Given the description of an element on the screen output the (x, y) to click on. 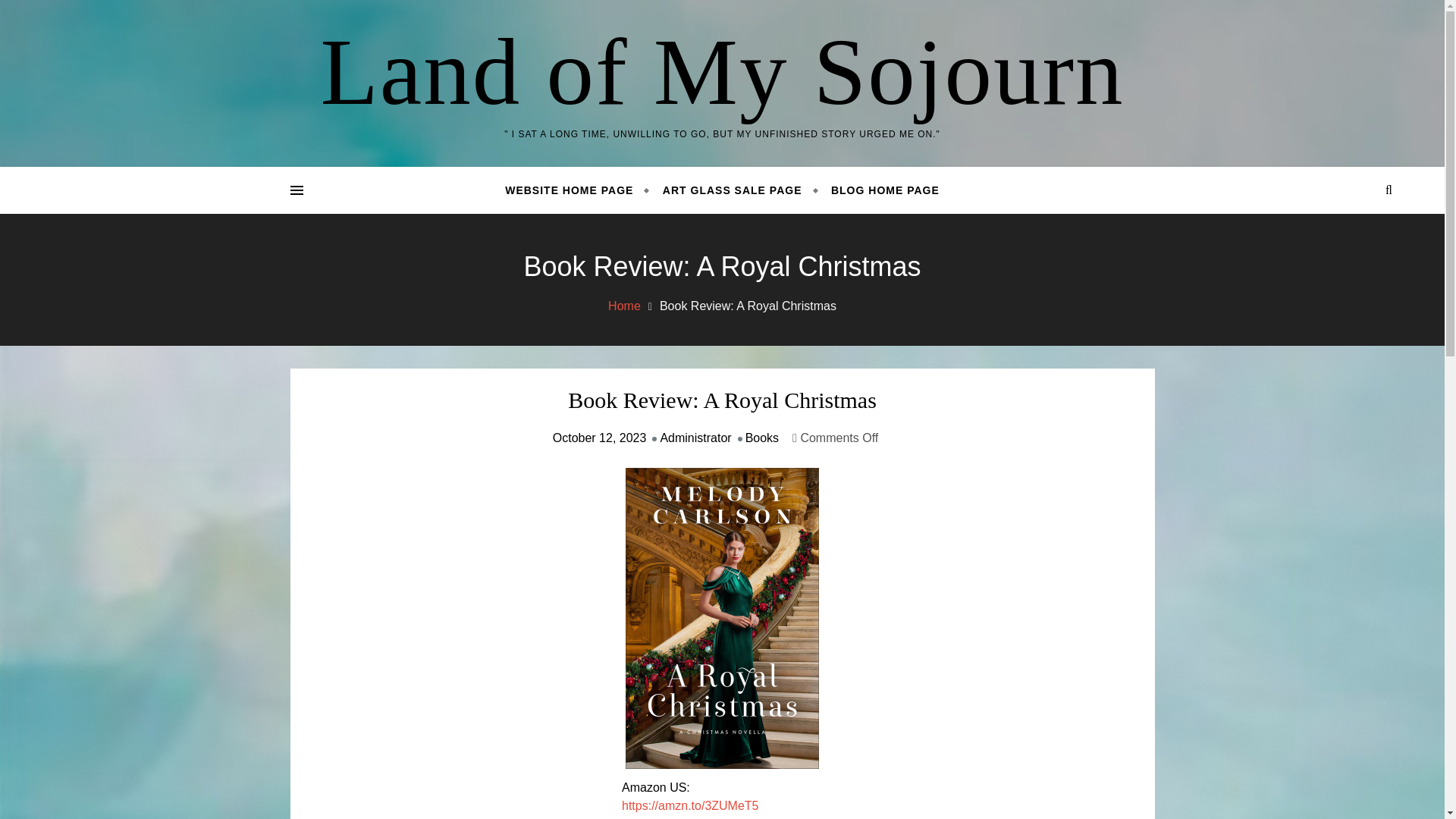
Land of My Sojourn (722, 71)
Administrator (694, 437)
Home (624, 305)
Search (1346, 247)
BLOG HOME PAGE (878, 189)
WEBSITE HOME PAGE (575, 189)
Book Review: A Royal Christmas (721, 399)
October 12, 2023 (599, 437)
ART GLASS SALE PAGE (732, 189)
Books (761, 437)
